Given the description of an element on the screen output the (x, y) to click on. 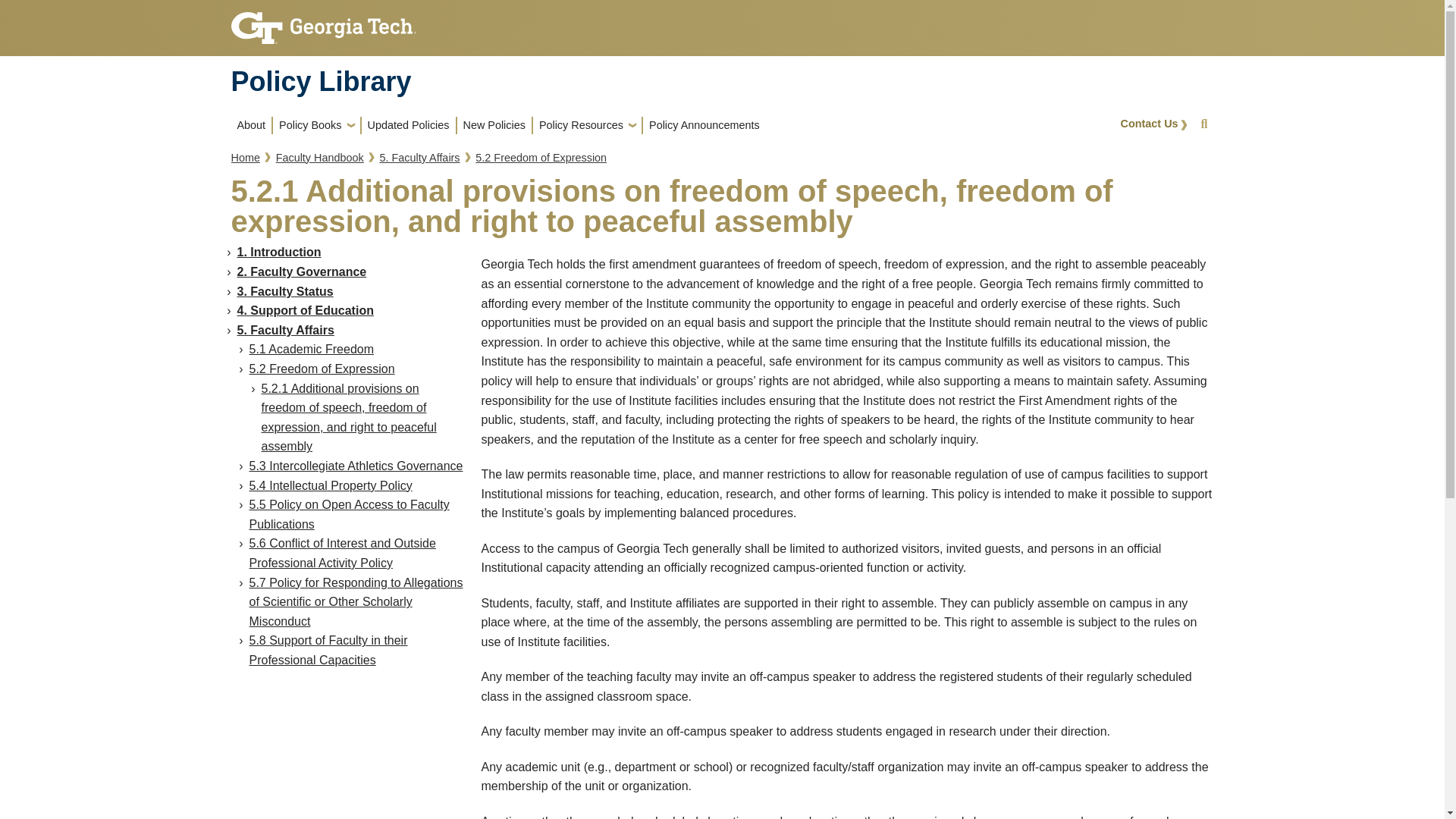
Policy Library (320, 81)
New Policies (494, 125)
1. Introduction (277, 251)
Policy Library (320, 81)
5.2 Freedom of Expression (541, 157)
Policy Announcements (704, 125)
Home (244, 157)
3. Faculty Status (284, 291)
Policy Resources (587, 125)
4. Support of Education (303, 309)
